Given the description of an element on the screen output the (x, y) to click on. 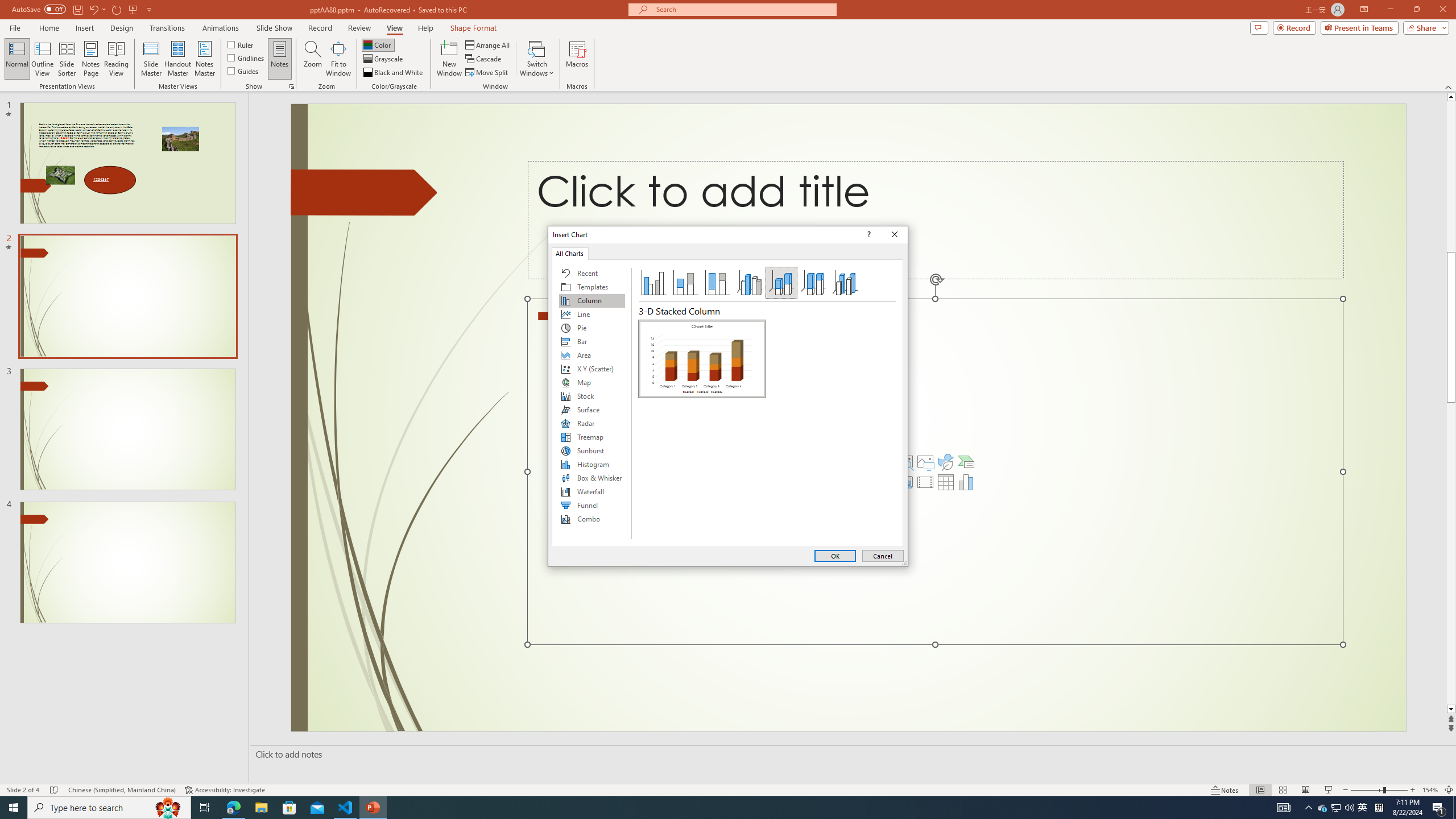
Templates (591, 287)
3-D Column (844, 282)
Area (591, 354)
Slide Master (151, 58)
Zoom... (312, 58)
